Given the description of an element on the screen output the (x, y) to click on. 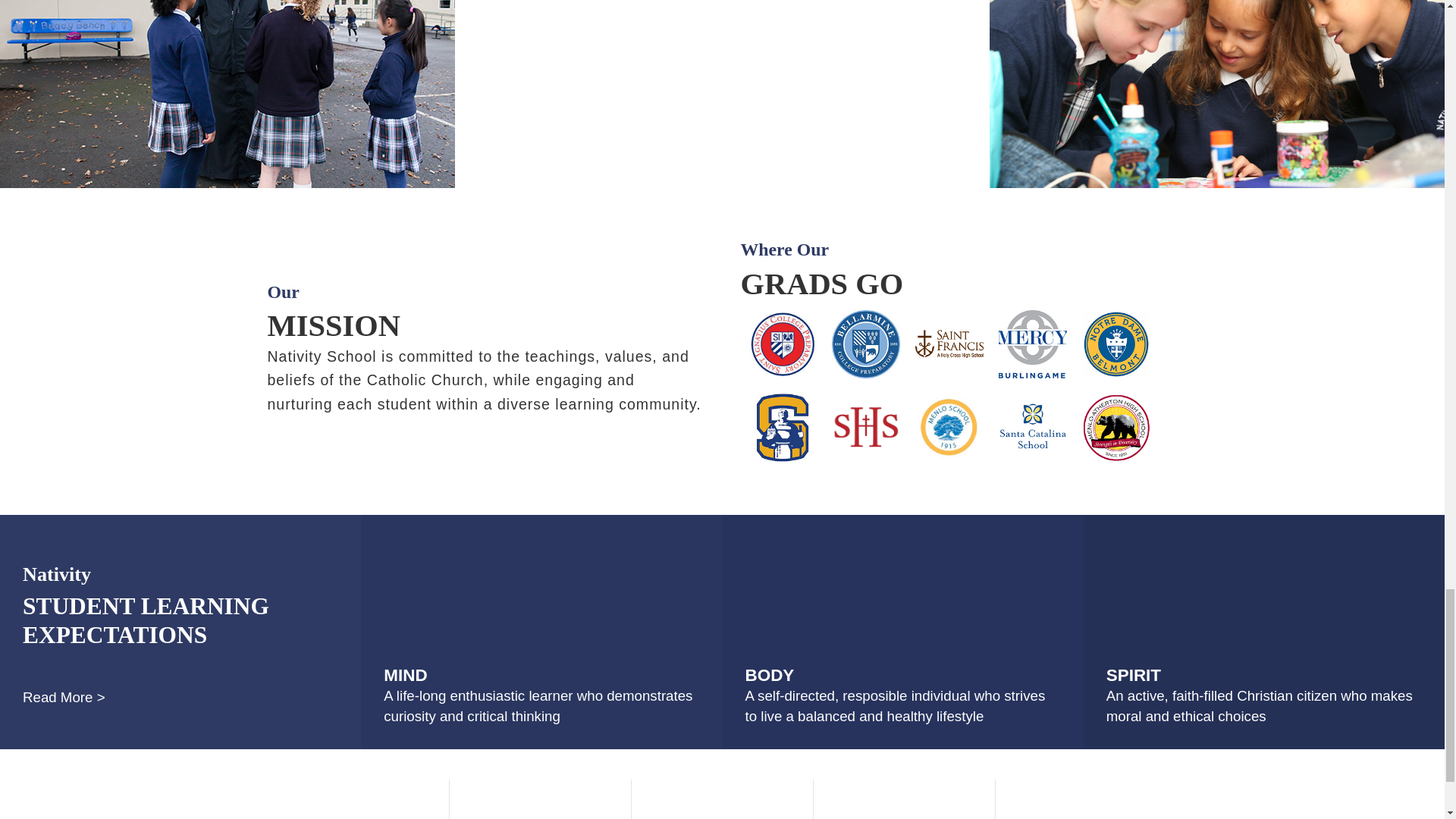
Parish (539, 799)
Employment (357, 799)
Contact Us (903, 799)
Alumni (1085, 799)
FACTS (721, 799)
